Given the description of an element on the screen output the (x, y) to click on. 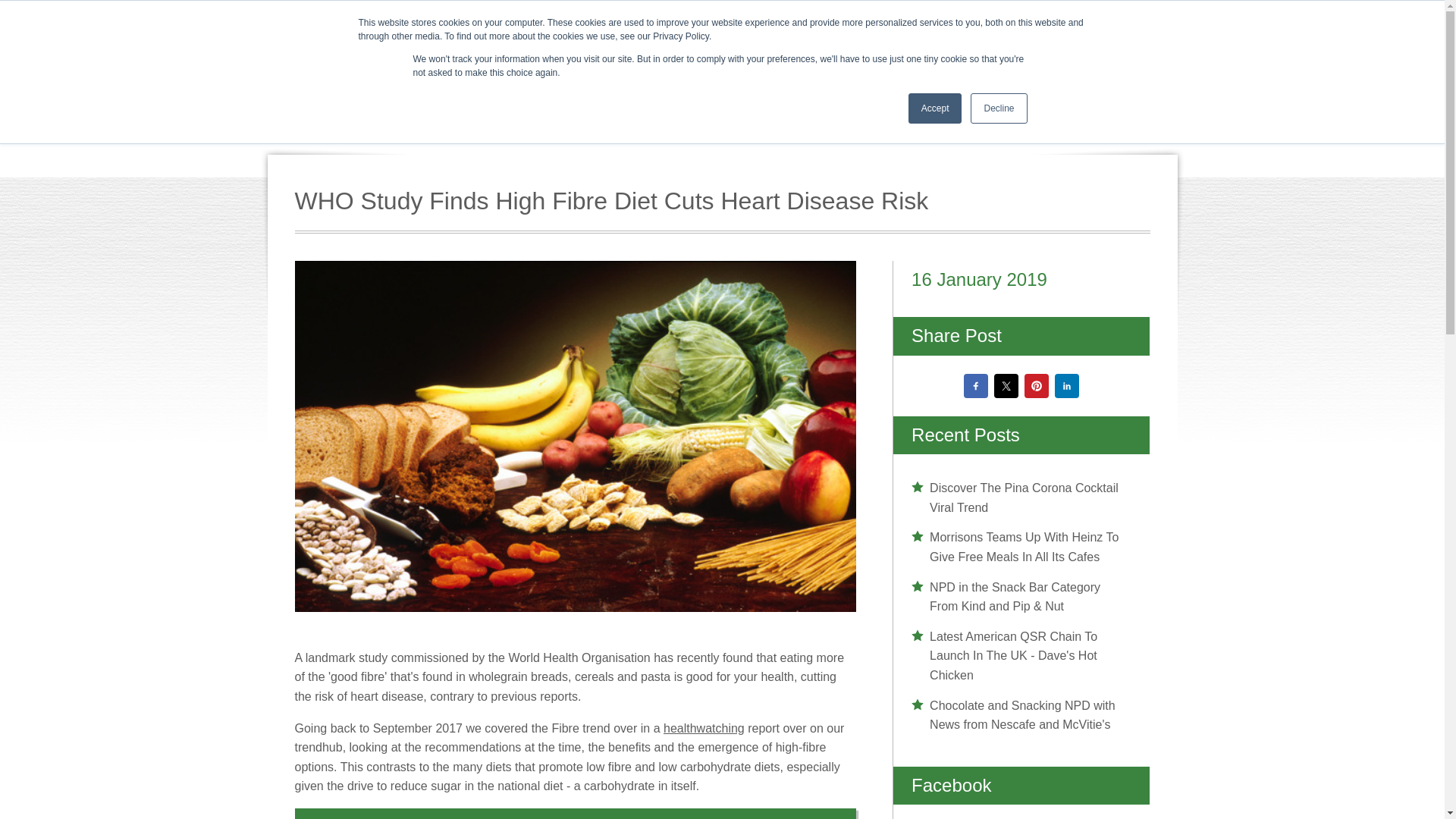
Decline (998, 108)
Events (829, 25)
healthwatching (703, 727)
Contact (1144, 25)
18 Years in Trends (998, 67)
Home (708, 25)
TFP Foundation (918, 25)
Discover The Pina Corona Cocktail Viral Trend (1021, 496)
thefoodpeople (468, 83)
Trends (767, 25)
trendhub login (1120, 67)
Blog (1083, 25)
Accept (935, 108)
